Given the description of an element on the screen output the (x, y) to click on. 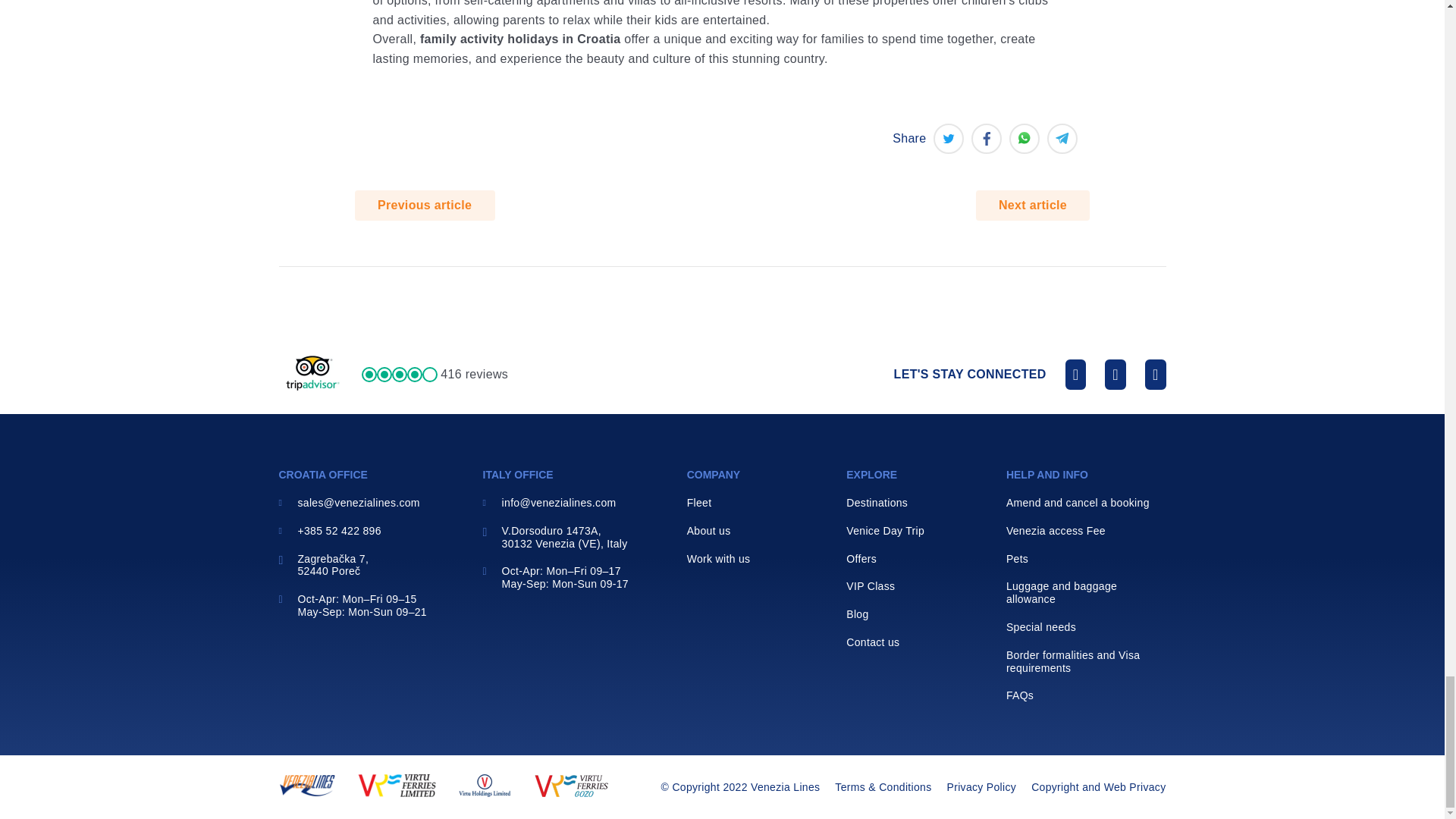
CROATIA OFFICE (323, 474)
Previous article (425, 205)
Next article (1032, 205)
